Given the description of an element on the screen output the (x, y) to click on. 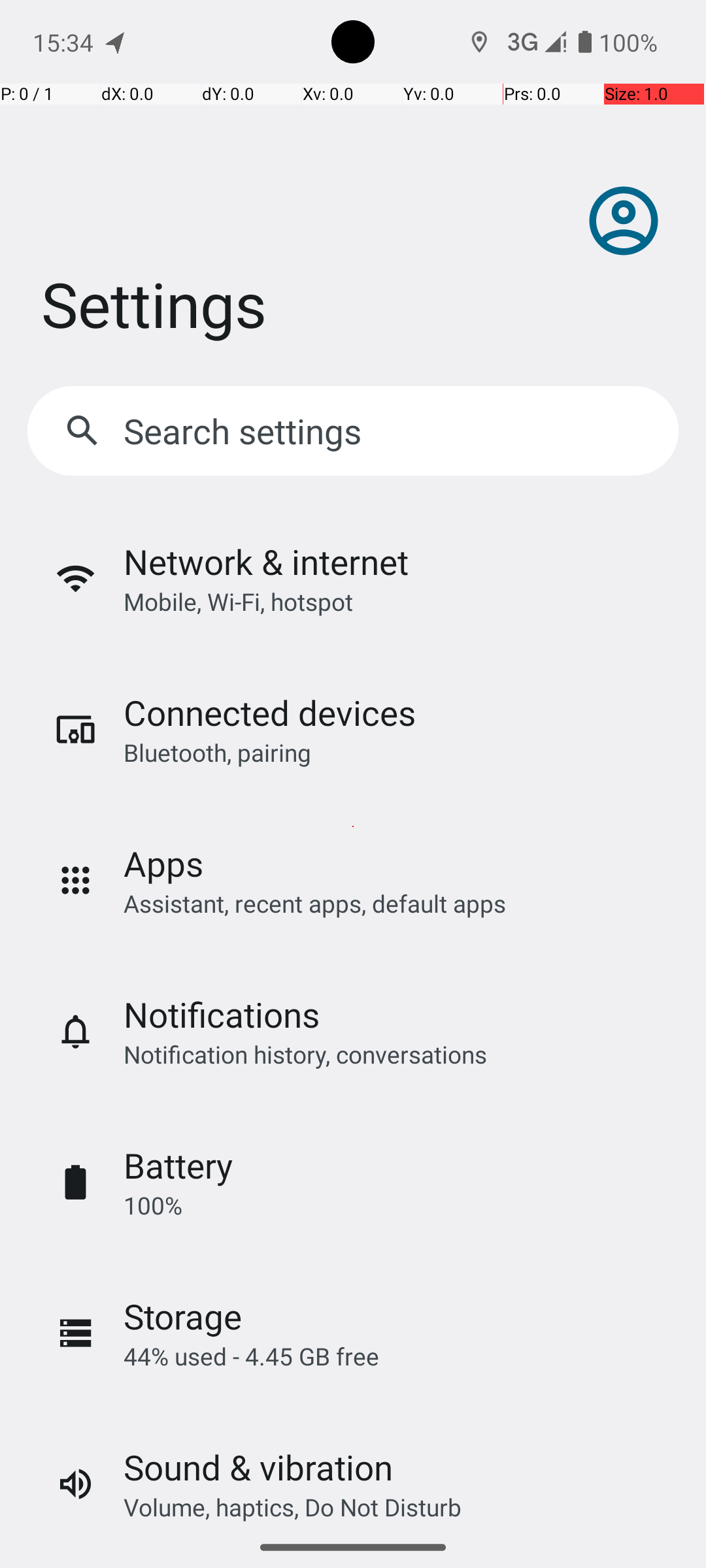
44% used - 4.45 GB free Element type: android.widget.TextView (251, 1355)
